Given the description of an element on the screen output the (x, y) to click on. 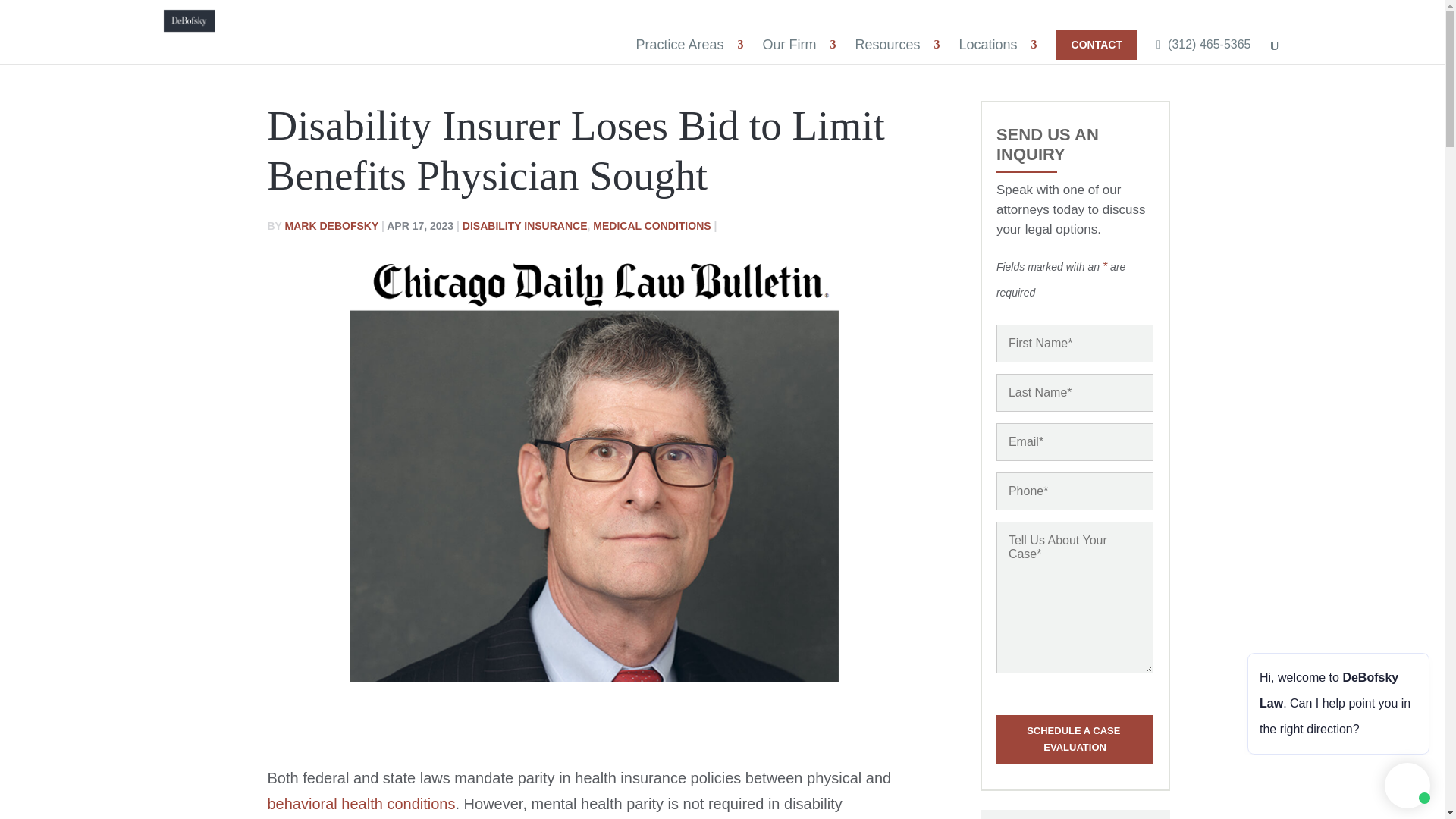
CONTACT (1097, 44)
Our Firm (791, 44)
Posts by Mark Debofsky (331, 225)
Locations (990, 44)
Resources (889, 44)
Practice Areas (681, 44)
SCHEDULE A CASE EVALUATION (1074, 738)
